Given the description of an element on the screen output the (x, y) to click on. 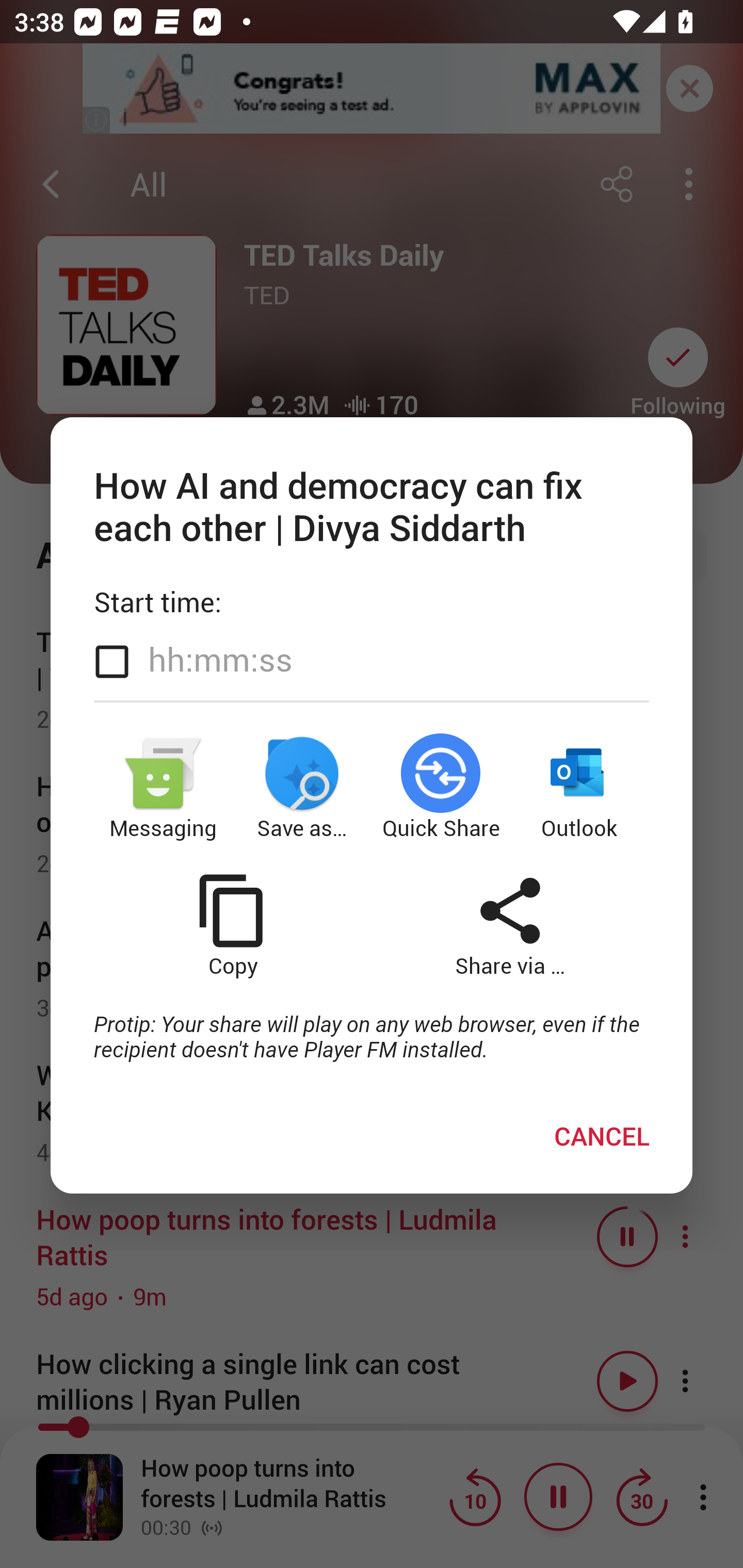
hh:mm:ss (220, 659)
Messaging (163, 786)
Save as… (301, 786)
Quick Share (440, 786)
Outlook (579, 786)
Copy (232, 925)
Share via … (509, 925)
CANCEL (600, 1135)
